Given the description of an element on the screen output the (x, y) to click on. 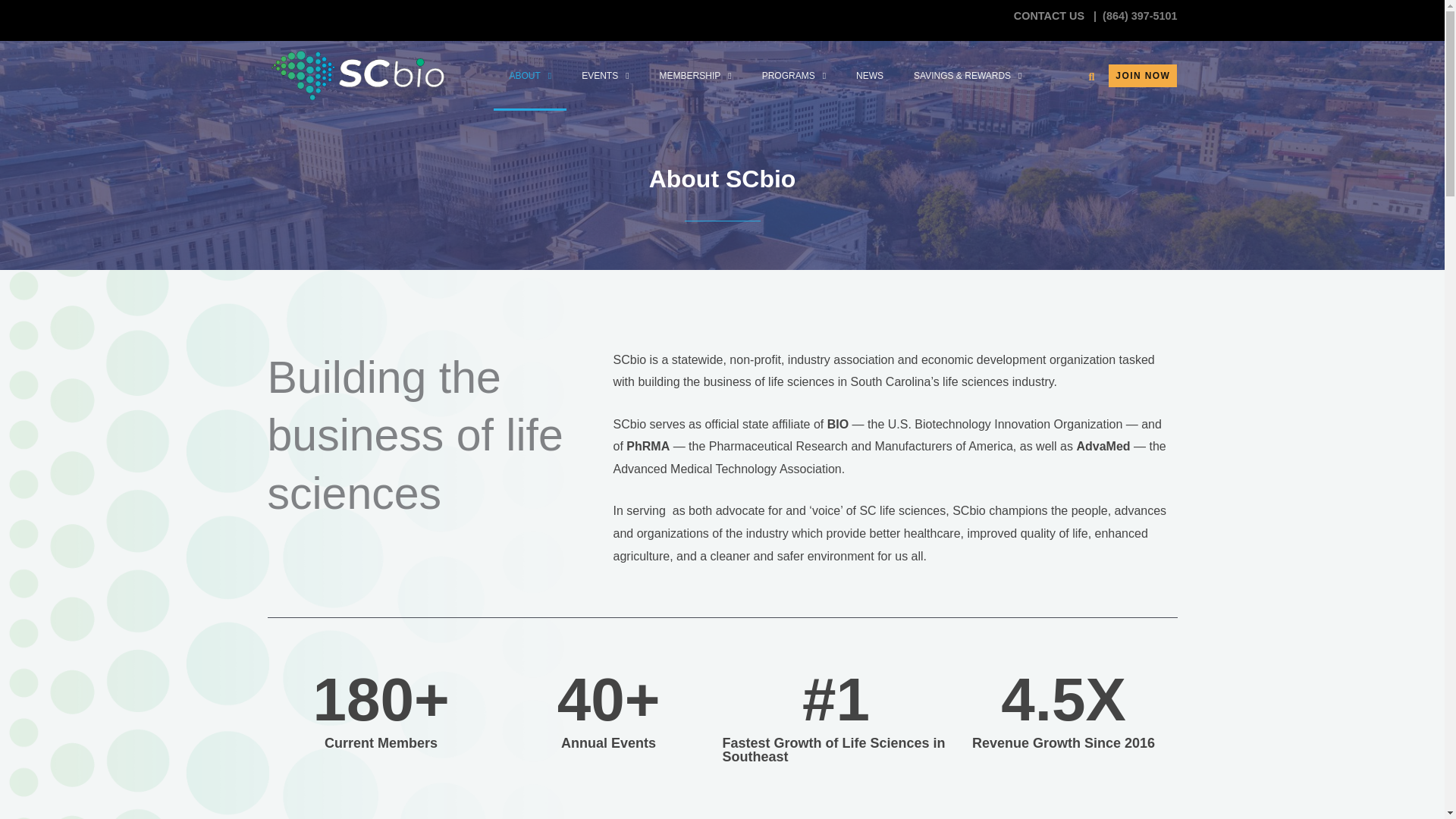
NEWS (869, 75)
EVENTS (604, 75)
PROGRAMS (793, 75)
ABOUT (529, 75)
MEMBERSHIP (695, 75)
CONTACT US (1050, 15)
